Given the description of an element on the screen output the (x, y) to click on. 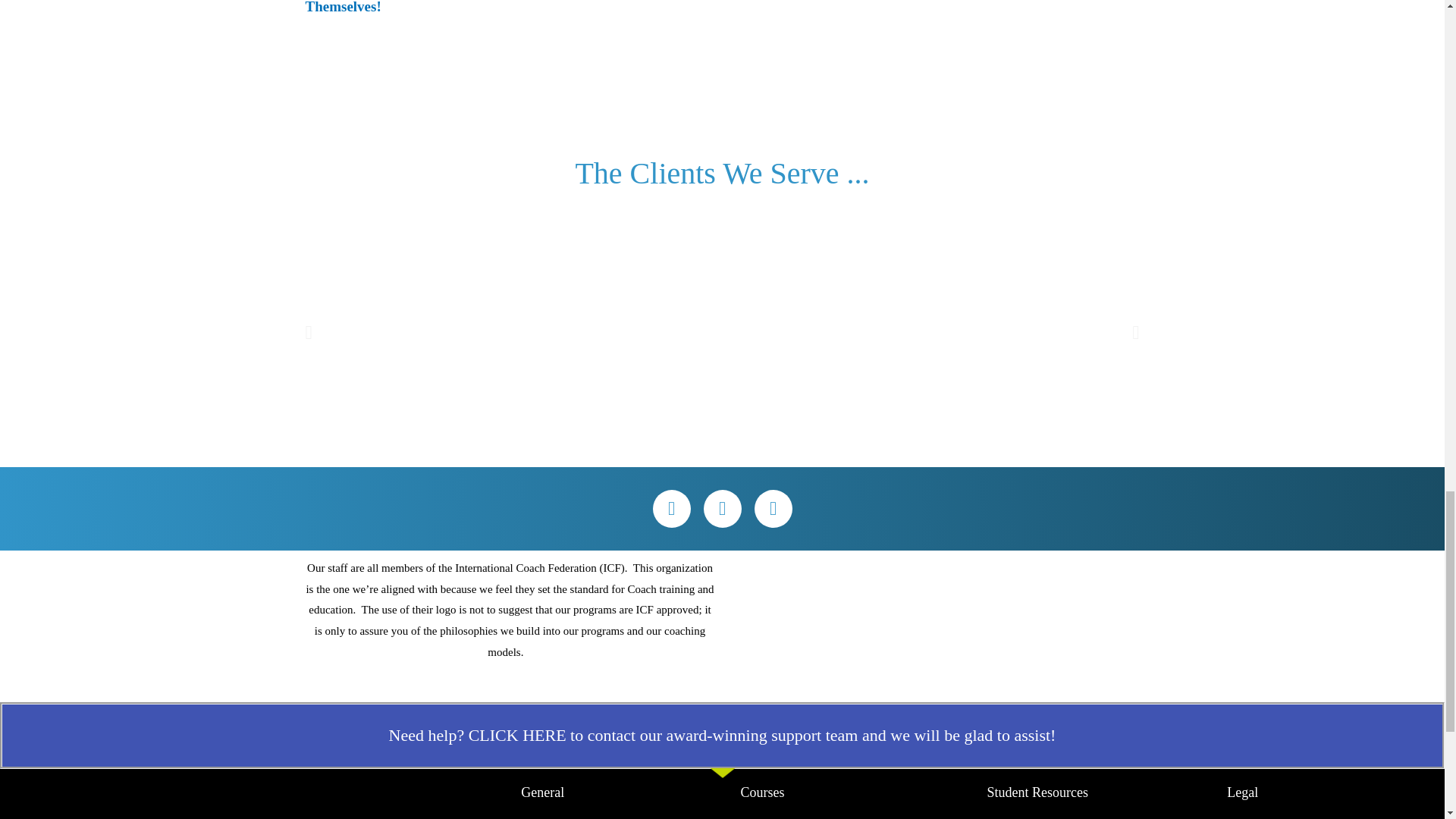
Home (630, 816)
Certified Wellness Coach I (863, 816)
Twitter (722, 508)
Facebook-f (671, 508)
Instagram (773, 508)
